Given the description of an element on the screen output the (x, y) to click on. 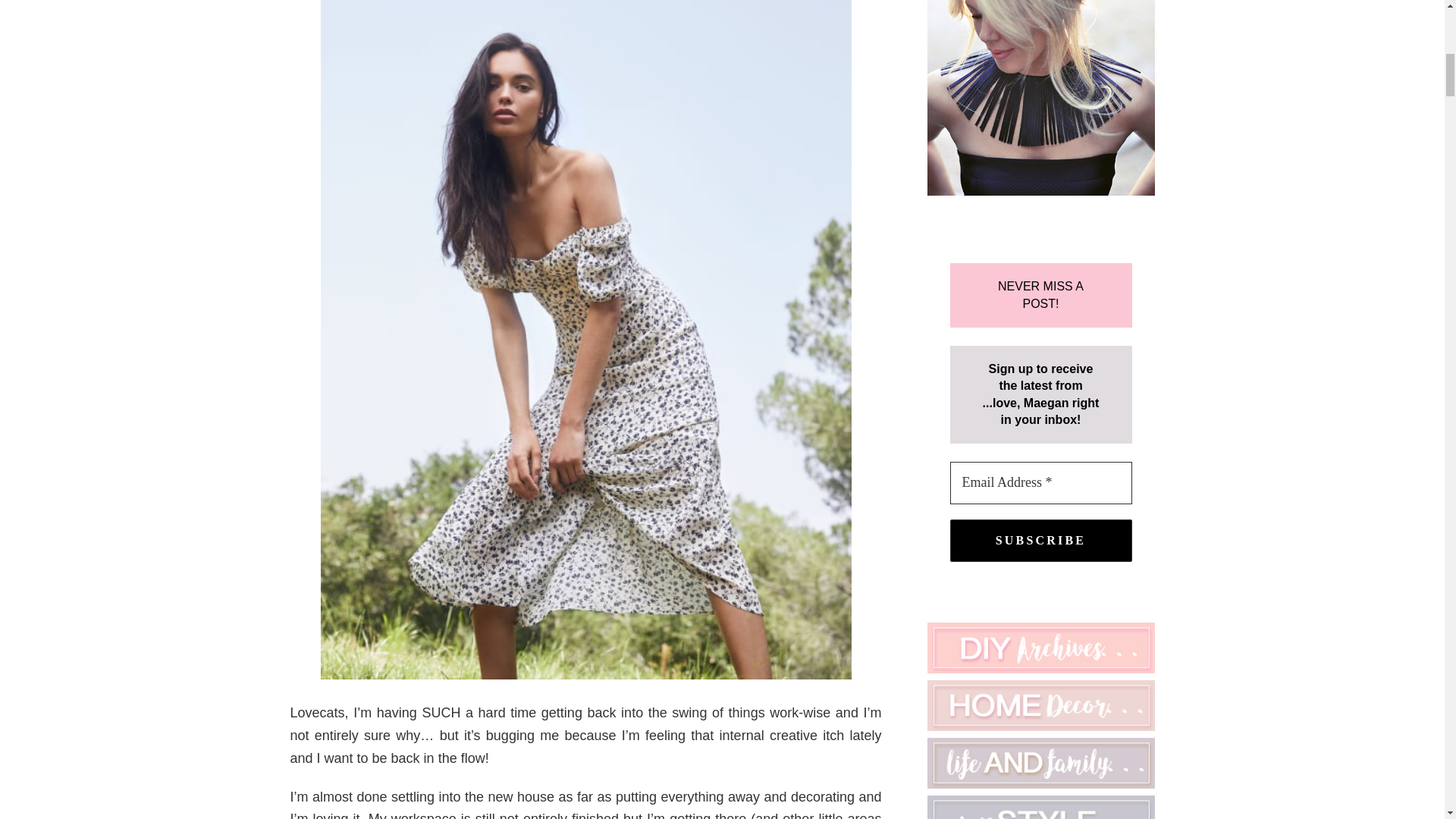
Email Address (1040, 482)
Subscribe (1040, 540)
